Given the description of an element on the screen output the (x, y) to click on. 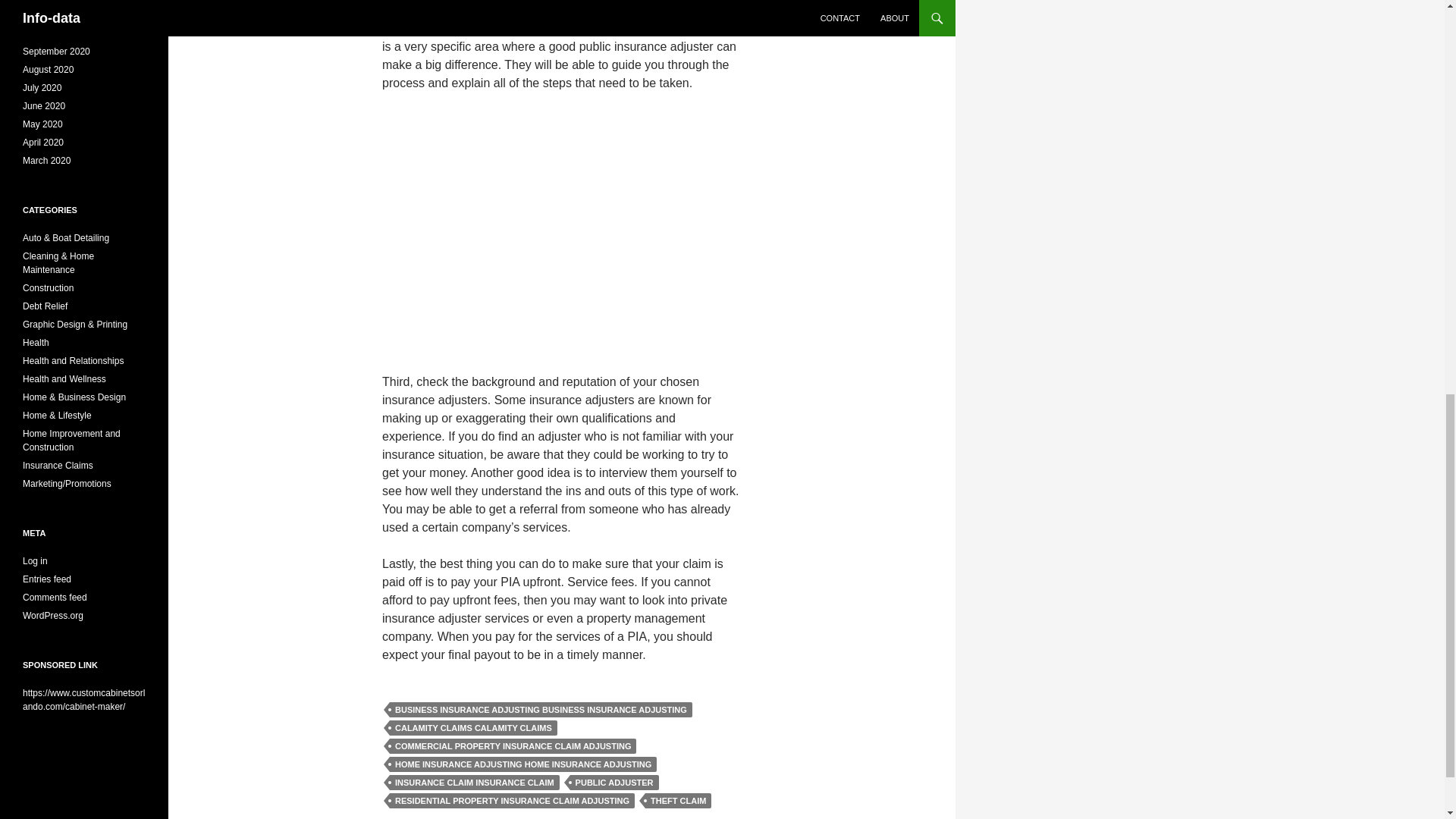
COMMERCIAL PROPERTY INSURANCE CLAIM ADJUSTING (513, 745)
HOME INSURANCE ADJUSTING HOME INSURANCE ADJUSTING (523, 764)
PUBLIC ADJUSTER (614, 782)
INSURANCE CLAIM INSURANCE CLAIM (474, 782)
RESIDENTIAL PROPERTY INSURANCE CLAIM ADJUSTING (512, 800)
CALAMITY CLAIMS CALAMITY CLAIMS (473, 727)
THEFT CLAIM (678, 800)
BUSINESS INSURANCE ADJUSTING BUSINESS INSURANCE ADJUSTING (541, 709)
